Given the description of an element on the screen output the (x, y) to click on. 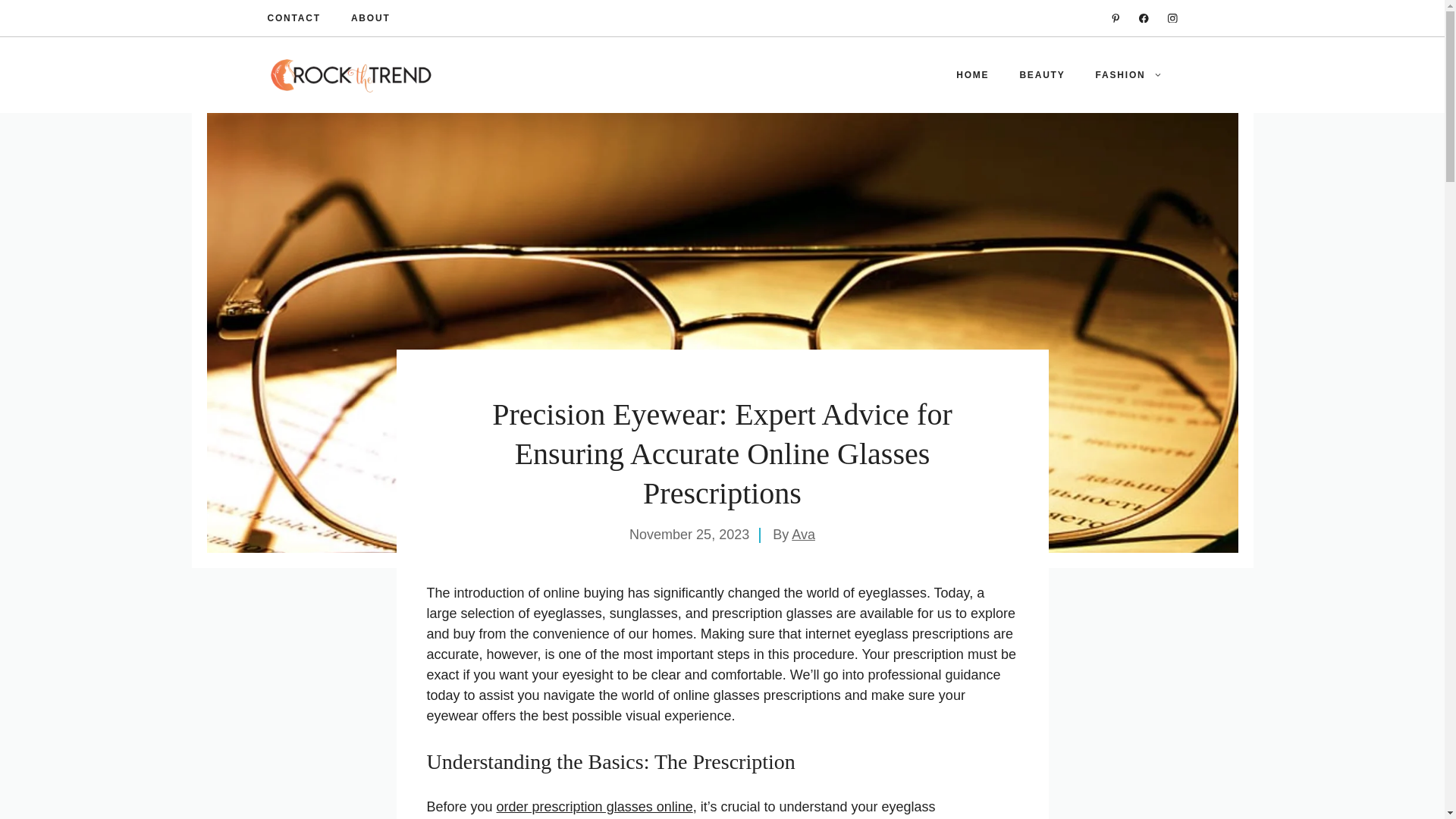
CONTACT (293, 18)
order prescription glasses online (594, 806)
ABOUT (370, 18)
Ava (803, 534)
BEAUTY (1042, 74)
HOME (972, 74)
FASHION (1128, 74)
